Given the description of an element on the screen output the (x, y) to click on. 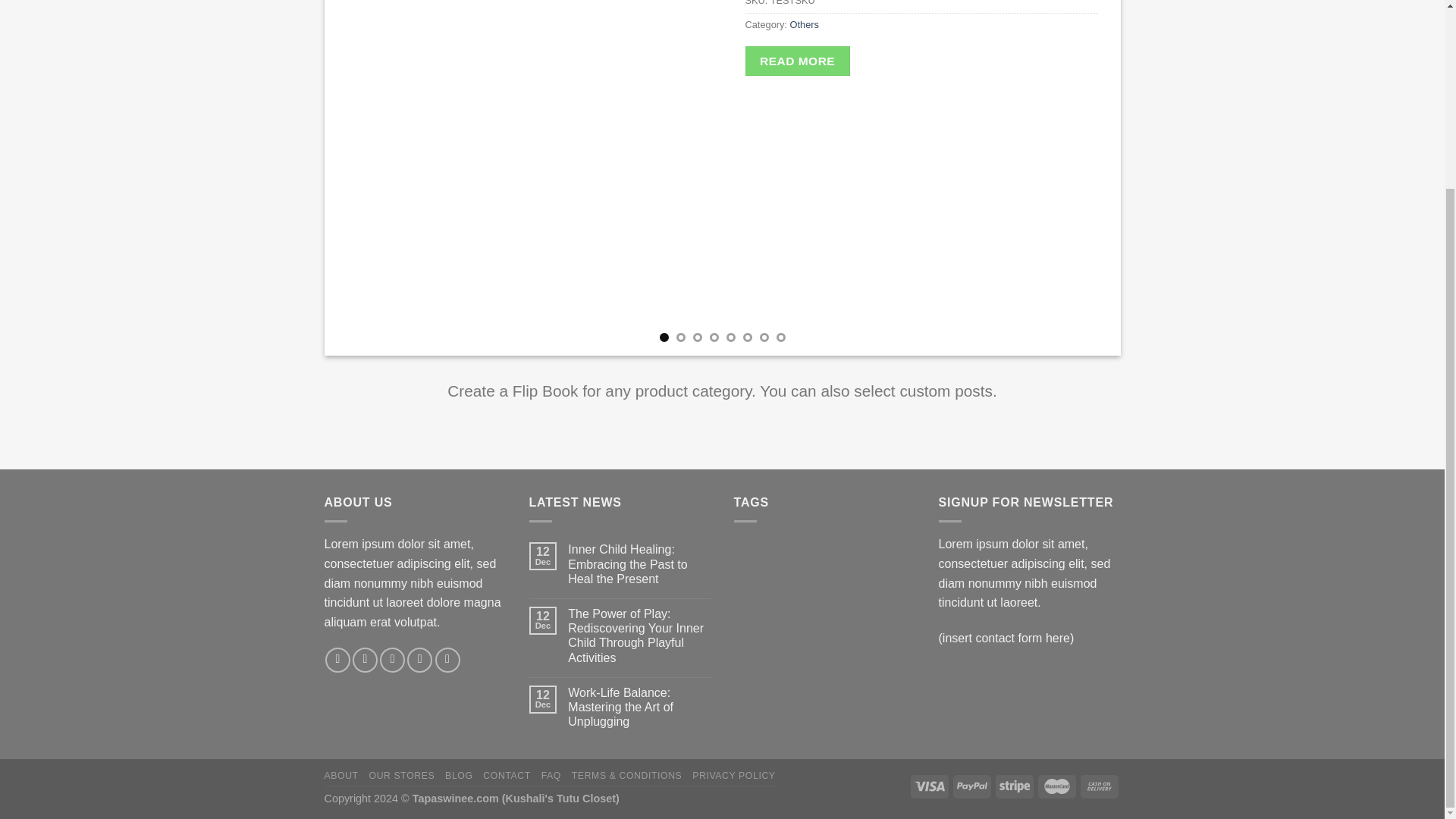
Follow on Facebook (337, 659)
READ MORE (796, 60)
Follow on Instagram (364, 659)
Follow on Pinterest (447, 659)
Send us an email (419, 659)
Inner Child Healing: Embracing the Past to Heal the Present (638, 564)
Work-Life Balance: Mastering the Art of Unplugging (638, 707)
Others (804, 24)
Follow on Twitter (392, 659)
